Given the description of an element on the screen output the (x, y) to click on. 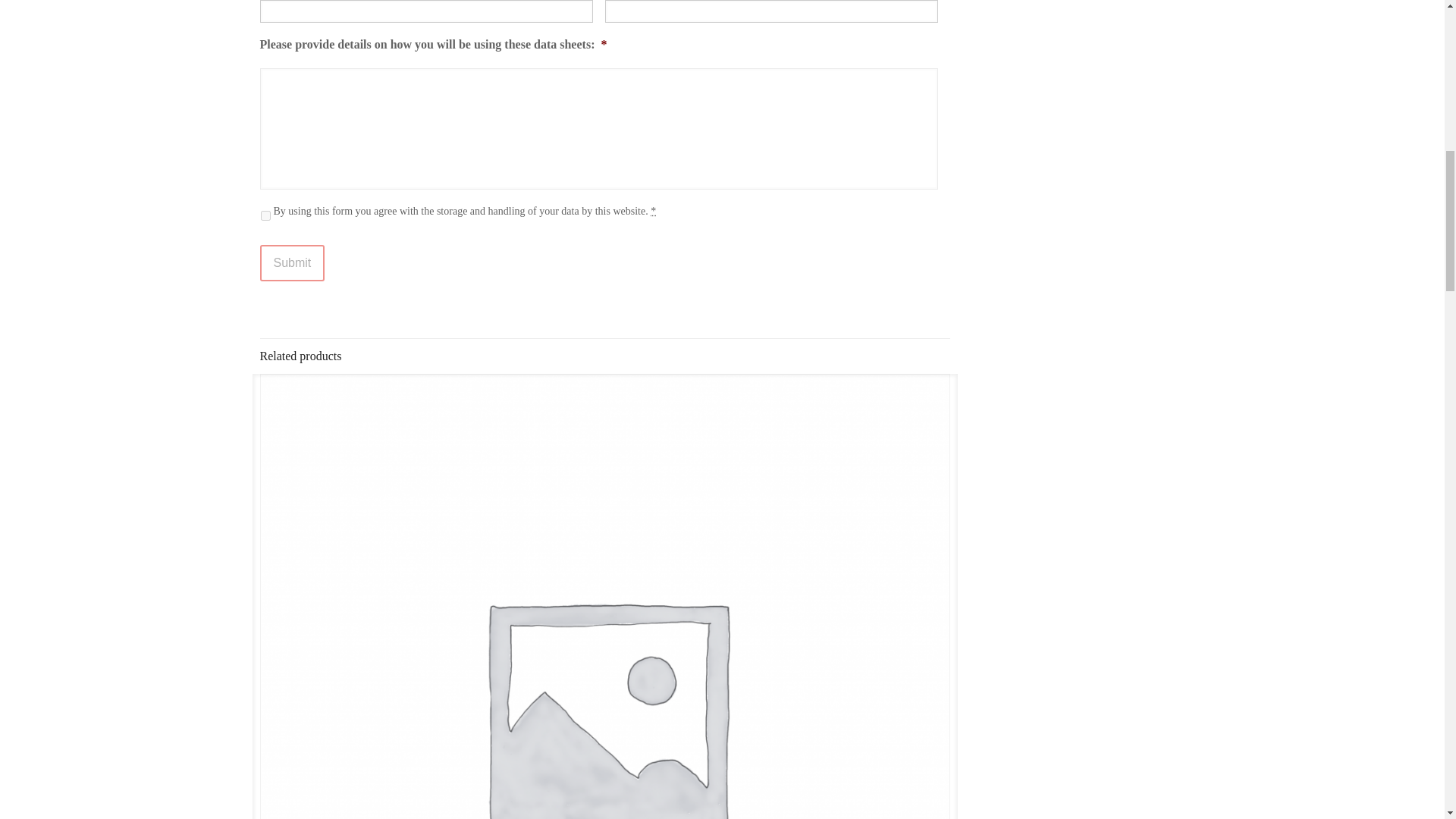
Submit (291, 262)
true (265, 215)
You need to accept this checkbox. (653, 211)
Submit (291, 262)
